Given the description of an element on the screen output the (x, y) to click on. 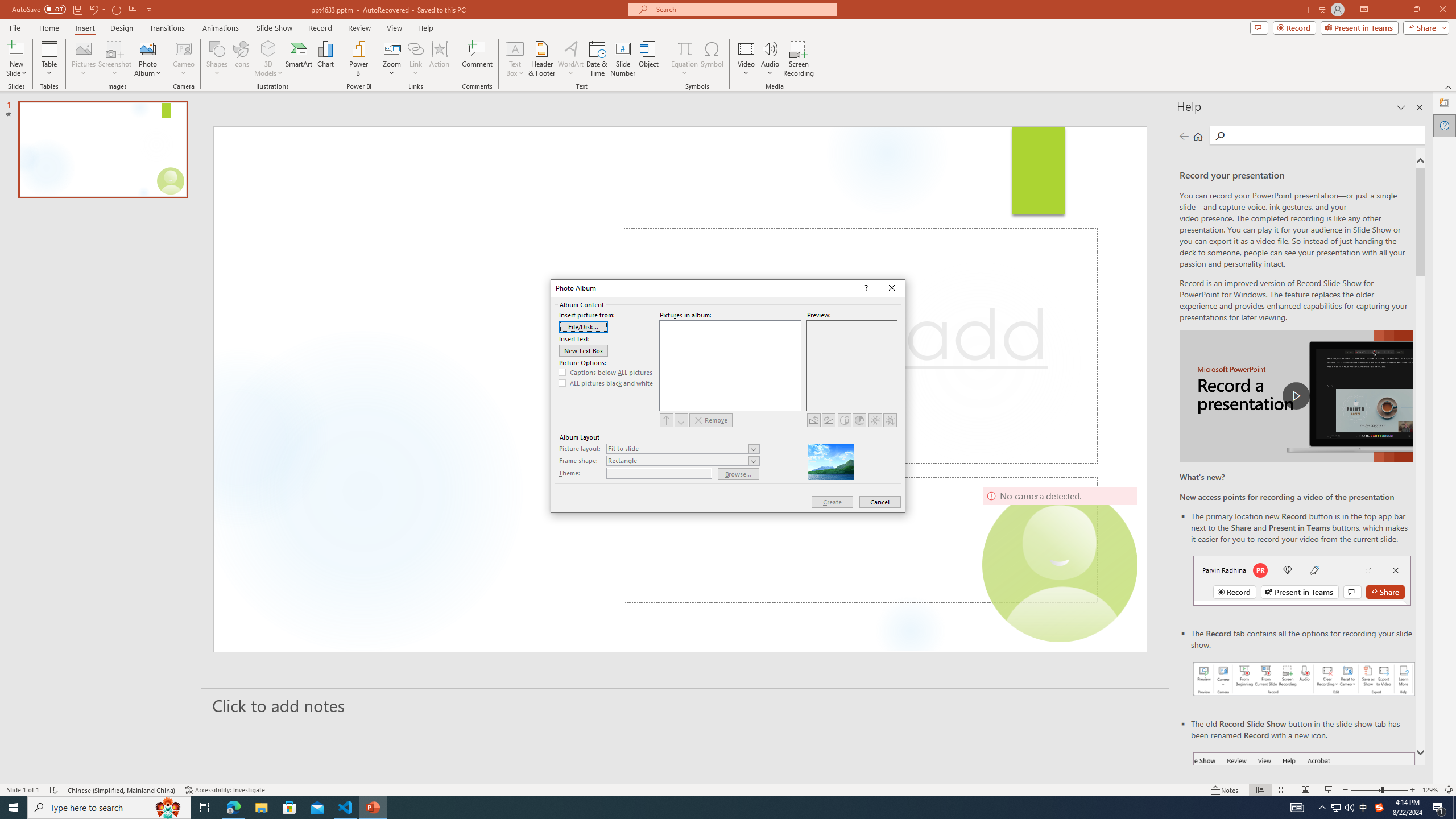
New Photo Album... (147, 48)
Action (439, 58)
Context help (865, 288)
Start (13, 807)
Cancel (880, 501)
Screen Recording... (798, 58)
Accessibility Checker Accessibility: Investigate (224, 790)
PowerPoint - 1 running window (373, 807)
Less Brightness (889, 419)
Captions below ALL pictures (606, 371)
Draw Horizontal Text Box (515, 48)
